Given the description of an element on the screen output the (x, y) to click on. 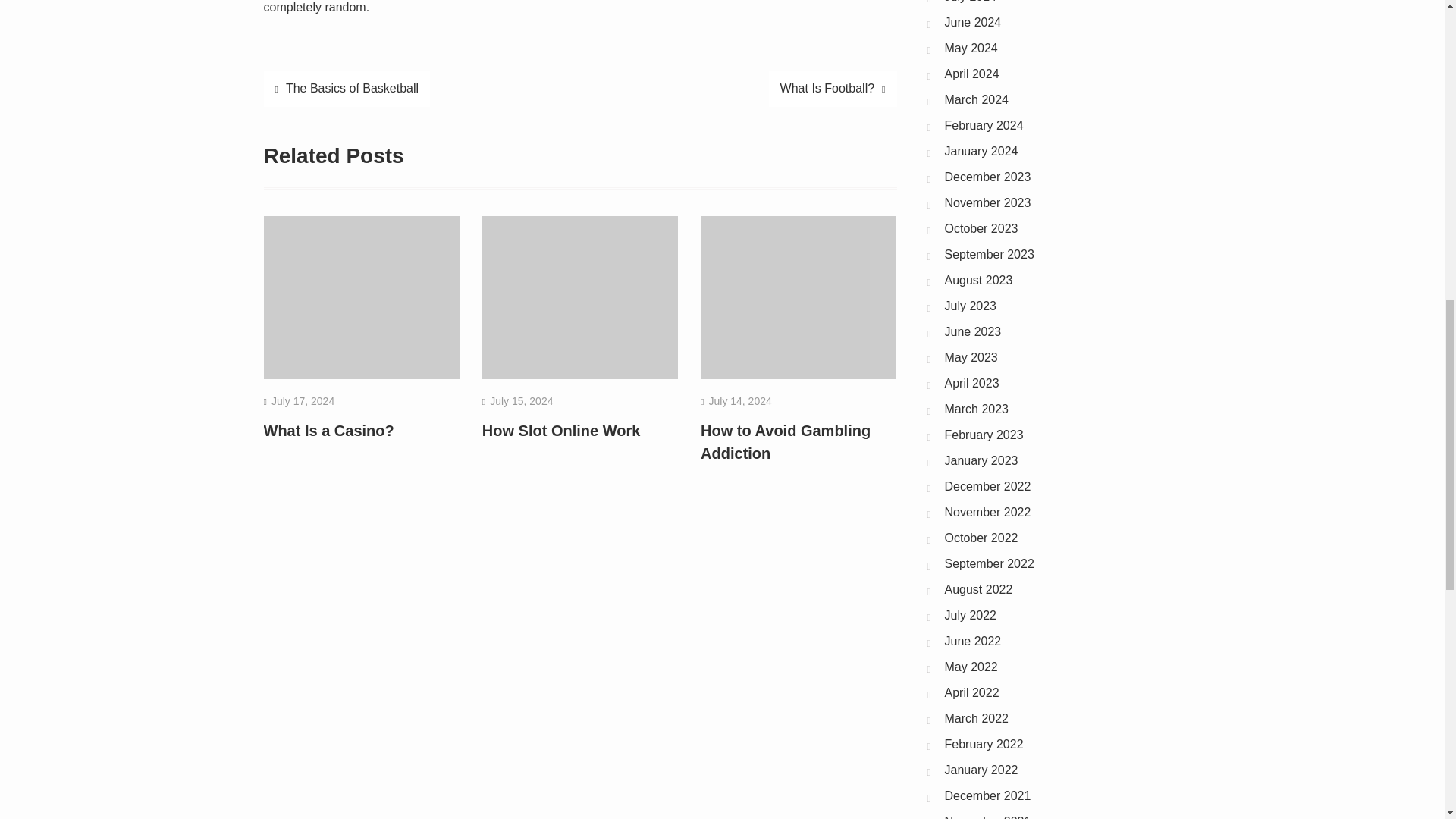
How to Avoid Gambling Addiction (785, 441)
What Is Football? (832, 88)
How Slot Online Work (560, 430)
The Basics of Basketball (346, 88)
What Is a Casino? (328, 430)
